Given the description of an element on the screen output the (x, y) to click on. 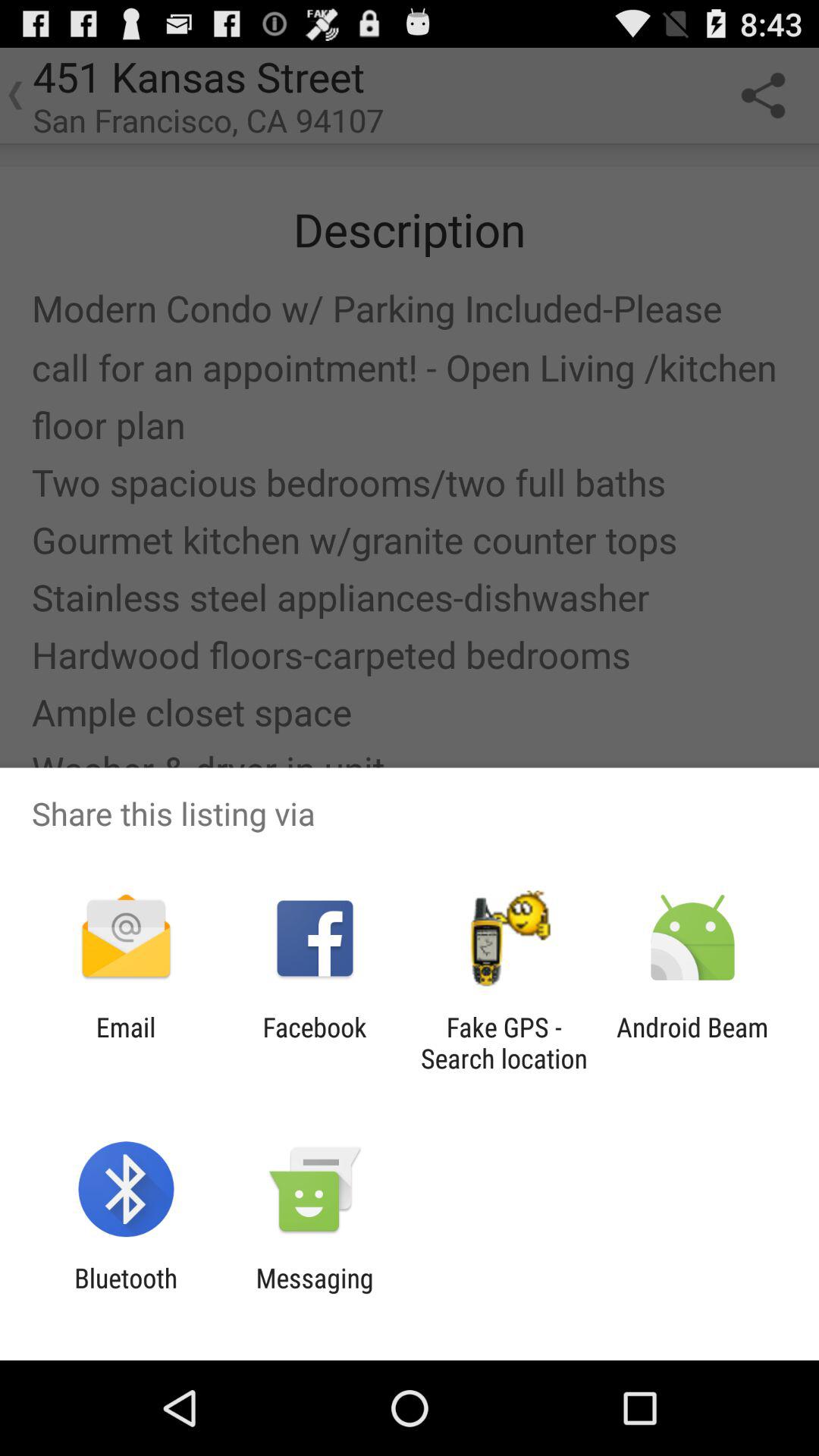
open the item to the right of email icon (314, 1042)
